Given the description of an element on the screen output the (x, y) to click on. 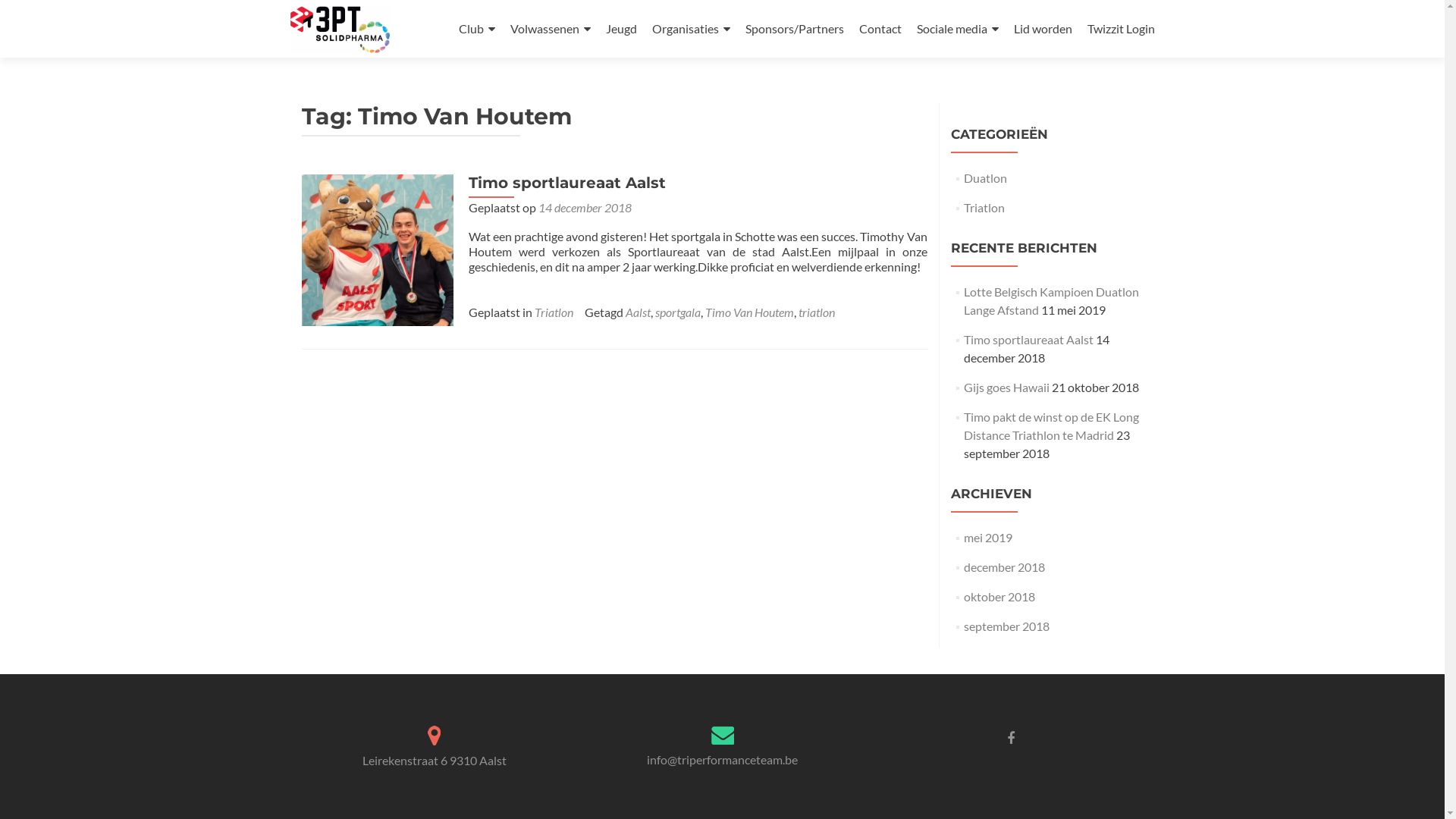
Twizzit Login Element type: text (1120, 28)
Triatlon Element type: text (552, 311)
Sponsors/Partners Element type: text (793, 28)
Duatlon Element type: text (985, 177)
december 2018 Element type: text (1003, 566)
sportgala Element type: text (677, 311)
mei 2019 Element type: text (987, 537)
14 december 2018 Element type: text (584, 207)
Lotte Belgisch Kampioen Duatlon Lange Afstand Element type: text (1051, 300)
oktober 2018 Element type: text (999, 596)
Contact Element type: text (879, 28)
september 2018 Element type: text (1006, 625)
Jeugd Element type: text (620, 28)
Lid worden Element type: text (1042, 28)
Timo sportlaureaat Aalst Element type: hover (377, 248)
Sociale media Element type: text (956, 28)
Organisaties Element type: text (691, 28)
Timo sportlaureaat Aalst Element type: text (1028, 339)
Gijs goes Hawaii Element type: text (1006, 386)
Triatlon Element type: text (983, 207)
Timo sportlaureaat Aalst Element type: text (566, 182)
triatlon Element type: text (815, 311)
Aalst Element type: text (636, 311)
Facebook link Element type: text (1010, 736)
Volwassenen Element type: text (549, 28)
Timo Van Houtem Element type: text (749, 311)
Club Element type: text (476, 28)
